Given the description of an element on the screen output the (x, y) to click on. 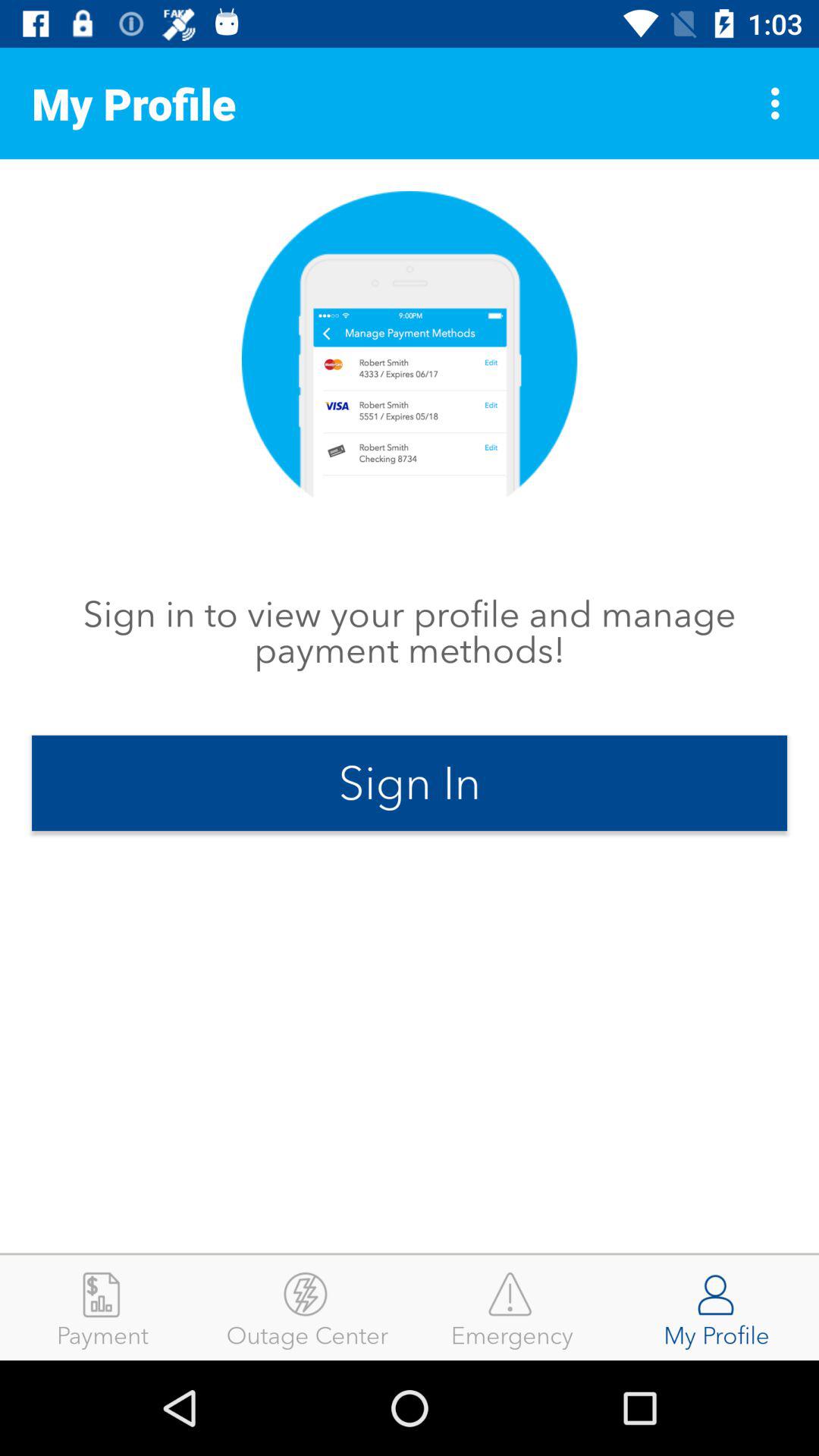
select icon at the top right corner (779, 103)
